Given the description of an element on the screen output the (x, y) to click on. 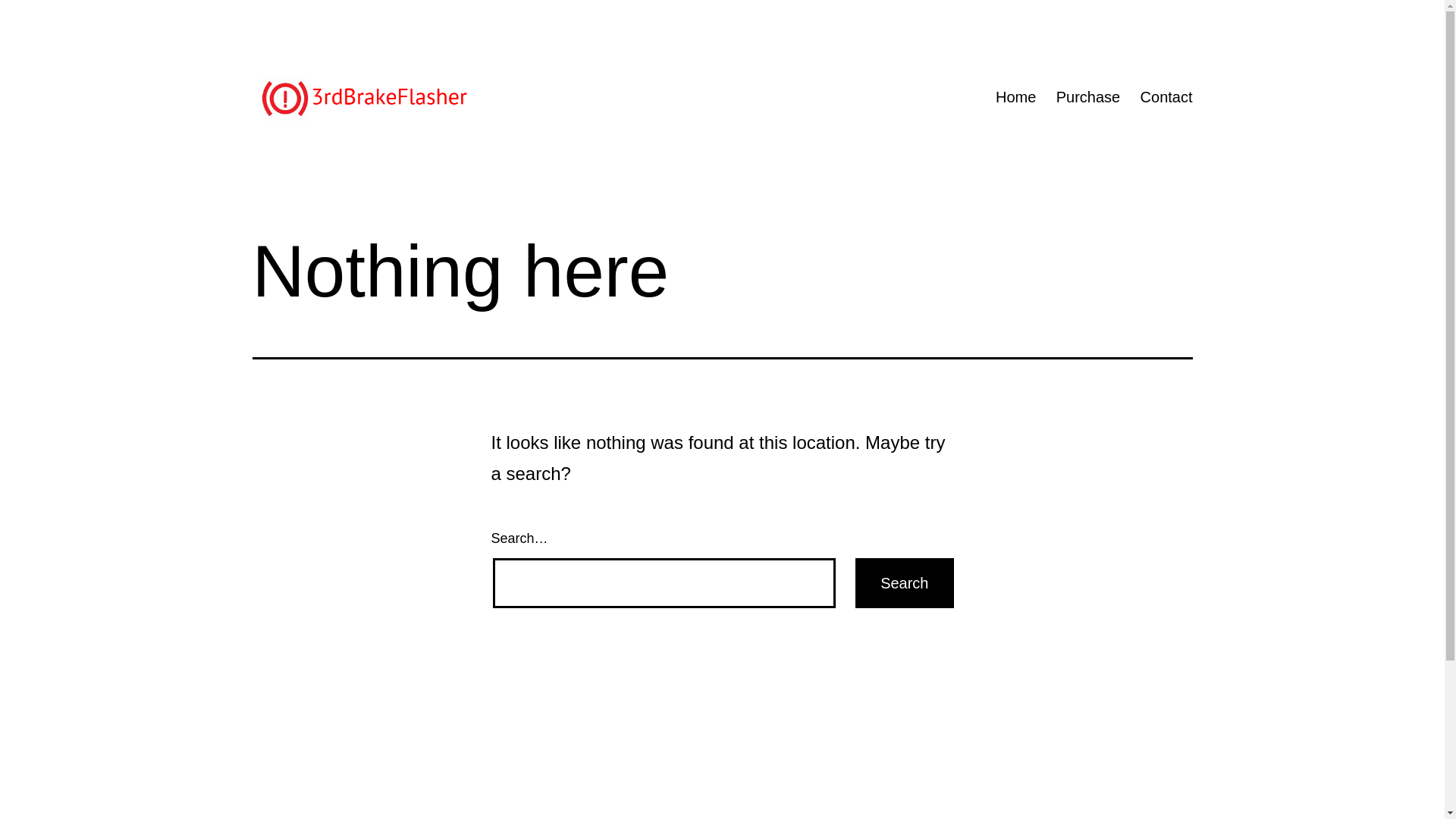
Search Element type: text (904, 583)
Purchase Element type: text (1088, 97)
Contact Element type: text (1165, 97)
Home Element type: text (1015, 97)
